Given the description of an element on the screen output the (x, y) to click on. 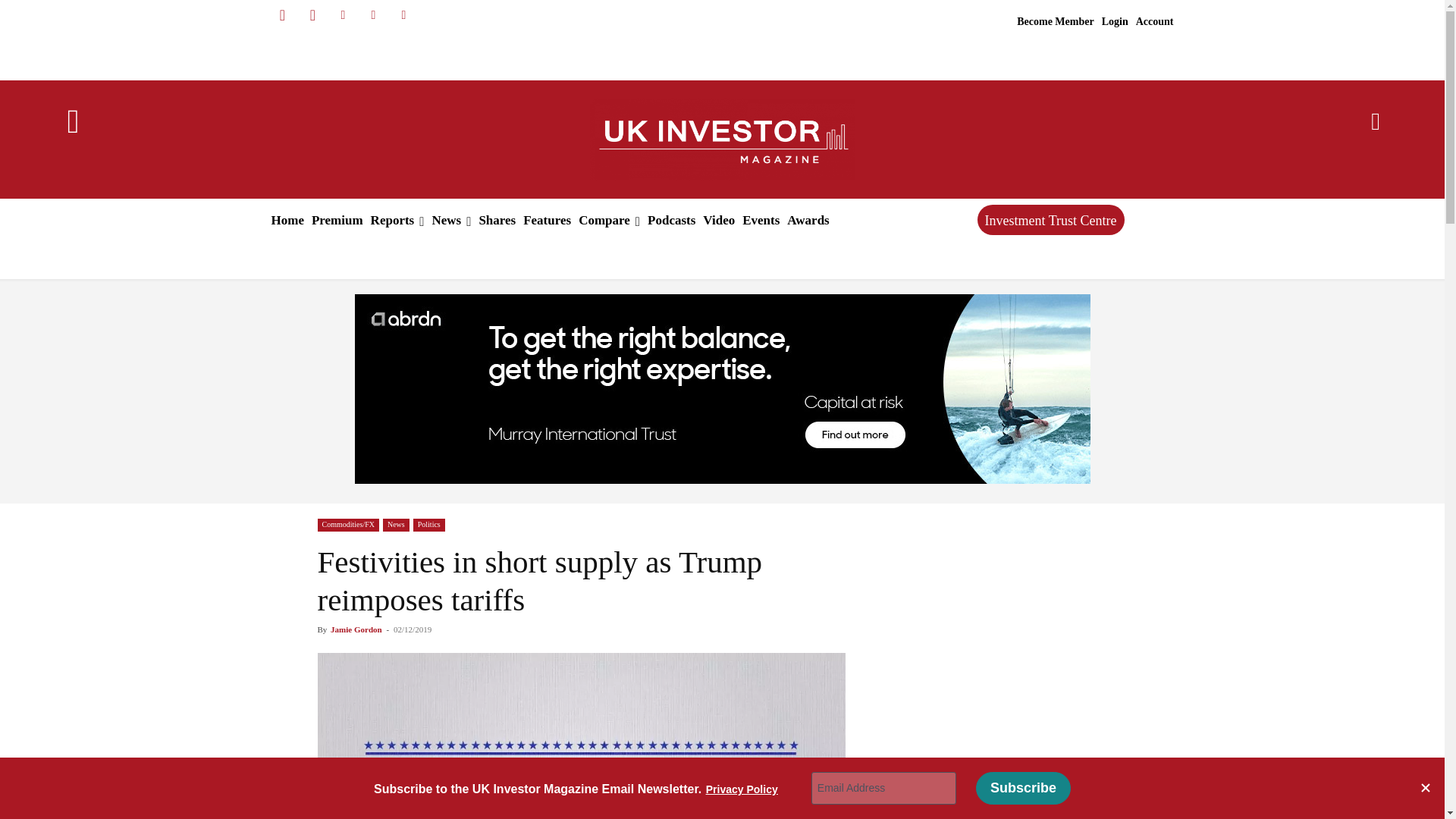
Vimeo (403, 15)
Facebook (281, 15)
Linkedin (342, 15)
Twitter (373, 15)
Instagram (312, 15)
